Given the description of an element on the screen output the (x, y) to click on. 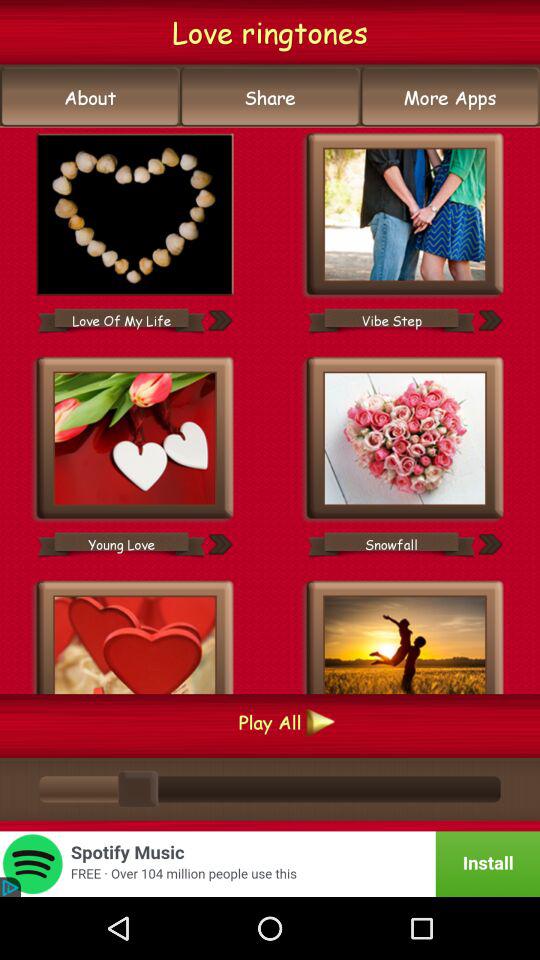
jump until snowfall (391, 544)
